Given the description of an element on the screen output the (x, y) to click on. 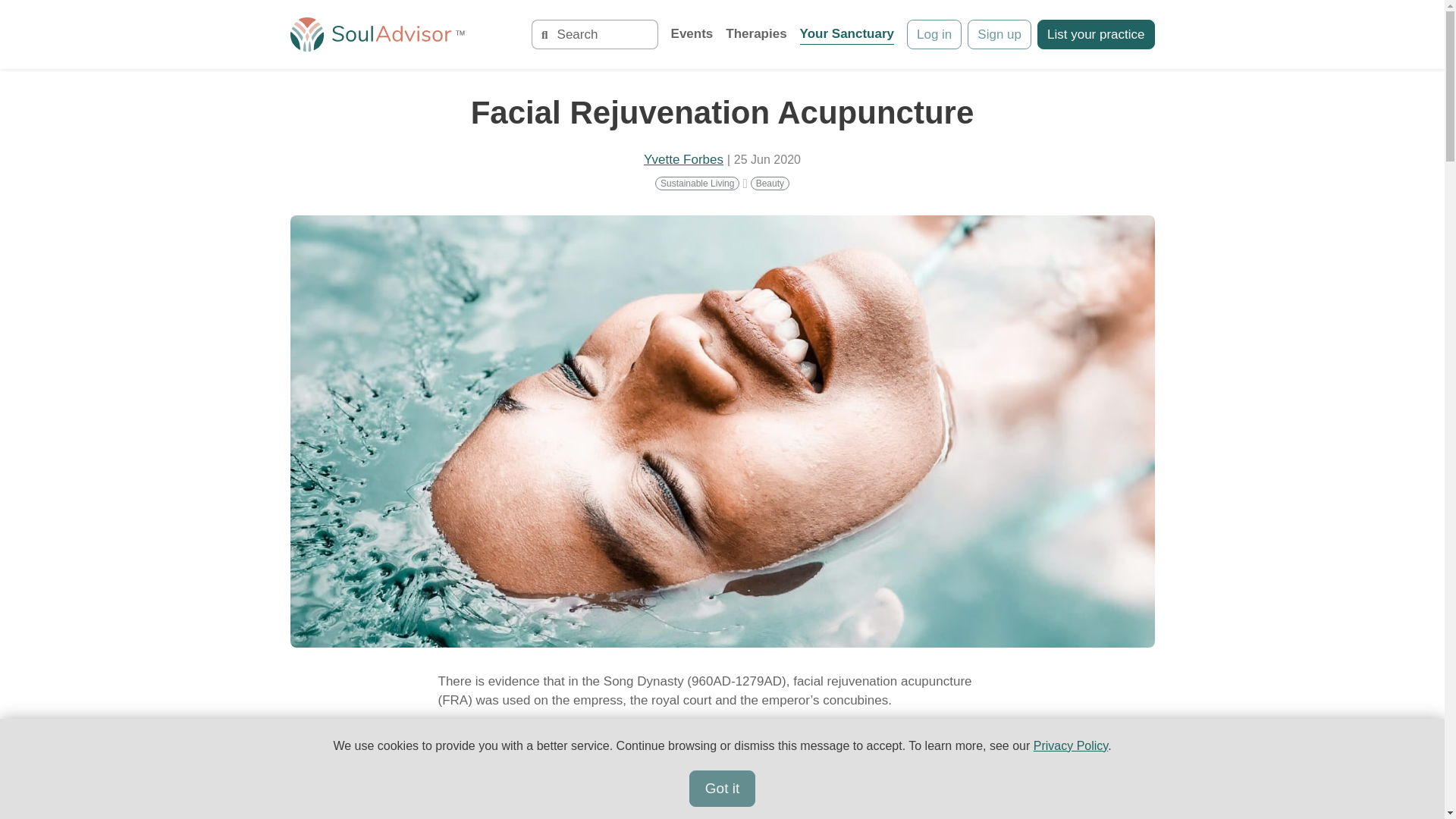
Sustainable Living (697, 183)
Beauty (770, 183)
Your Sanctuary (846, 34)
Beauty (770, 183)
Log in (933, 34)
Sign up (999, 34)
Yvette Forbes (683, 159)
List your practice (1095, 34)
Events (692, 34)
Therapies (755, 34)
Sustainable Living (697, 183)
